Given the description of an element on the screen output the (x, y) to click on. 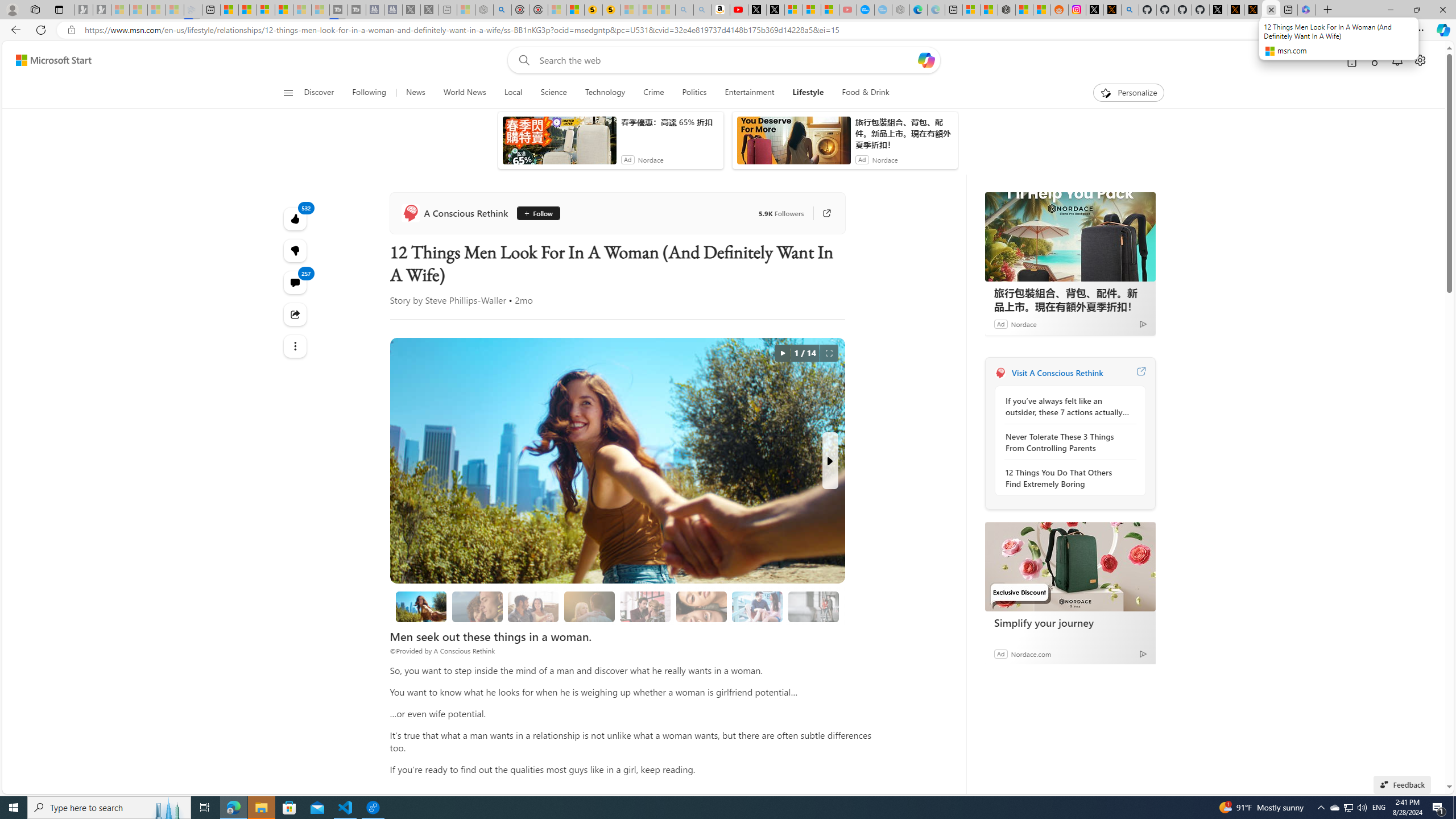
Day 1: Arriving in Yemen (surreal to be here) - YouTube (738, 9)
Enter your search term (726, 59)
1. She is compassionate. (476, 606)
Opinion: Op-Ed and Commentary - USA TODAY (865, 9)
